Given the description of an element on the screen output the (x, y) to click on. 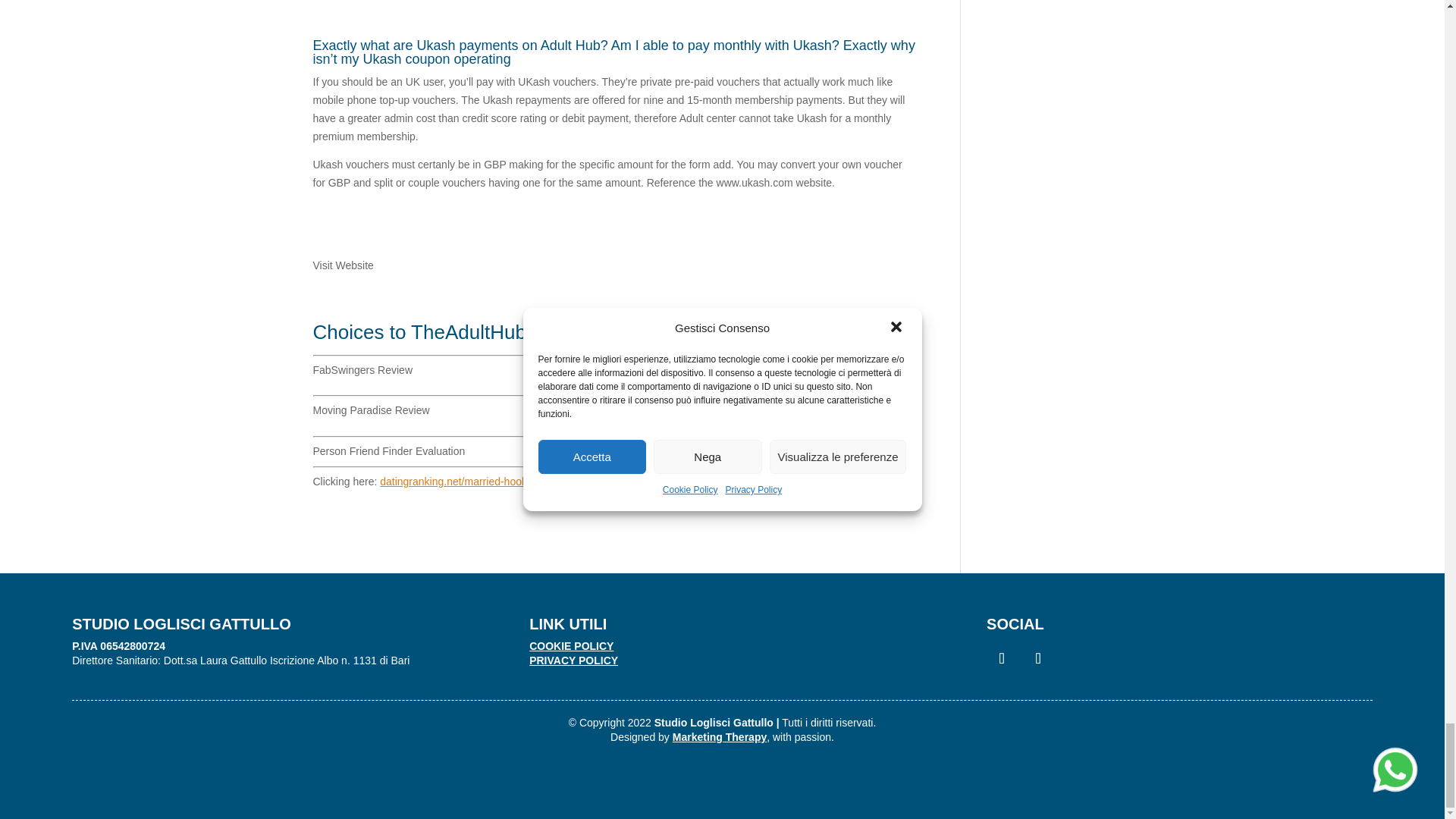
Segui su Instagram (1037, 657)
Marketing Odontoiatrico, acquisisci nuovi pazienti (719, 736)
Segui su Facebook (1001, 657)
